Given the description of an element on the screen output the (x, y) to click on. 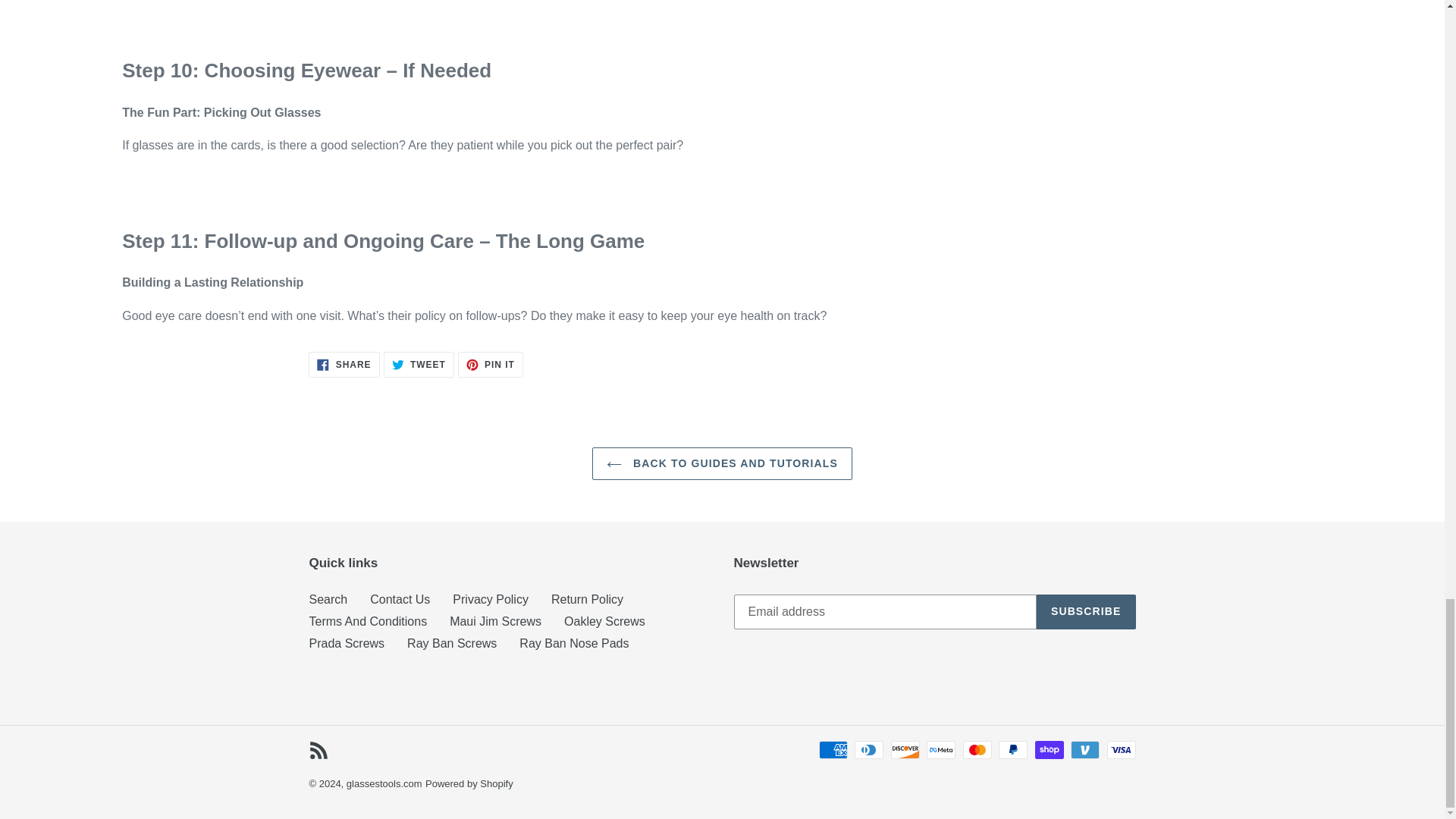
SUBSCRIBE (1085, 611)
RSS (318, 750)
Maui Jim Screws (343, 364)
Ray Ban Nose Pads (495, 621)
Ray Ban Screws (573, 643)
Privacy Policy (451, 643)
glassestools.com (490, 599)
Prada Screws (384, 783)
